Given the description of an element on the screen output the (x, y) to click on. 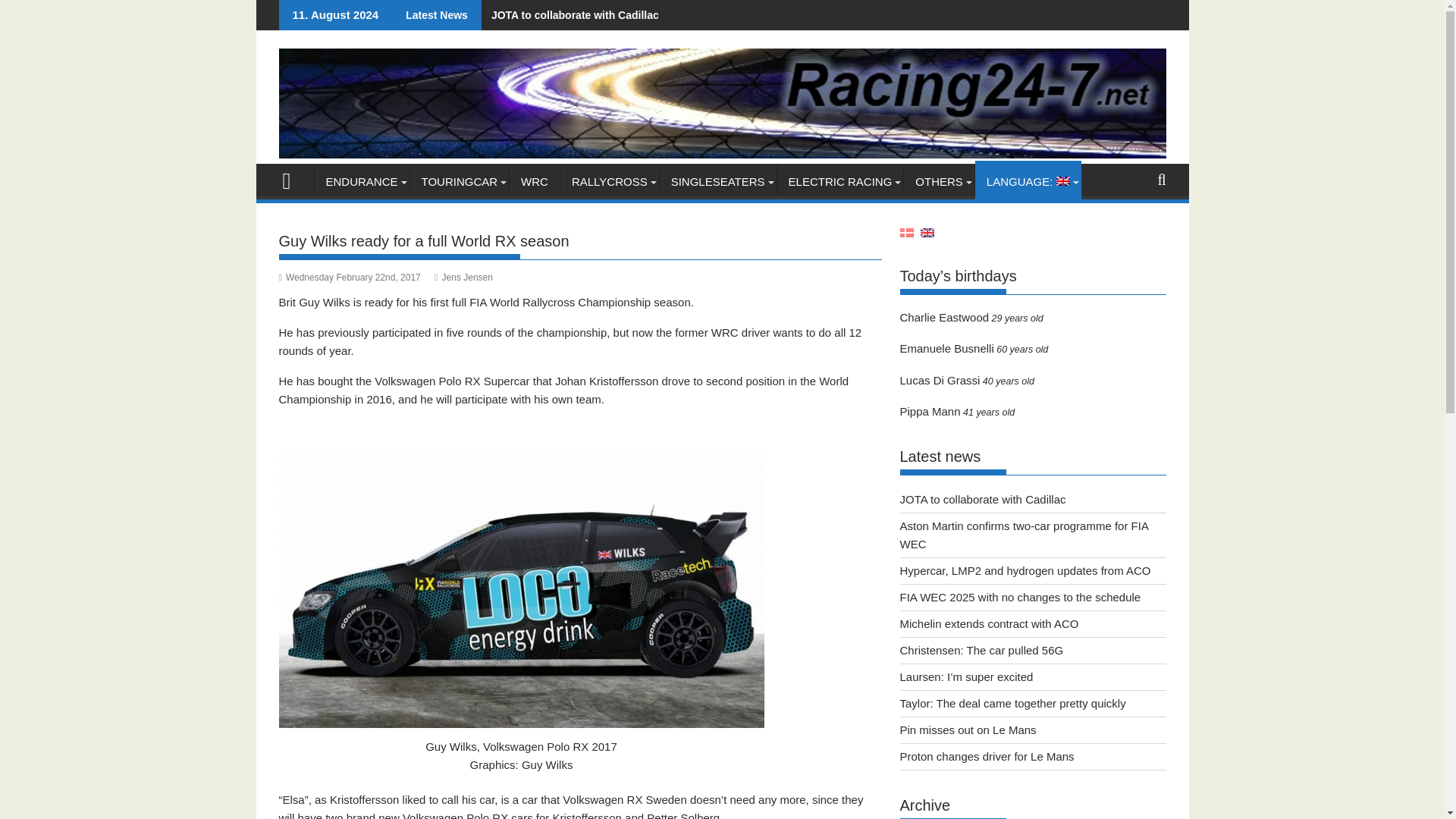
JOTA to collaborate with Cadillac (570, 15)
LANGUAGE:  (1028, 181)
ENDURANCE (361, 181)
ELECTRIC RACING (840, 181)
JOTA to collaborate with Cadillac (570, 15)
WRC (534, 181)
SINGLESEATERS (717, 181)
Racing24-7.net (293, 179)
TOURINGCAR (459, 181)
English (1028, 181)
